Given the description of an element on the screen output the (x, y) to click on. 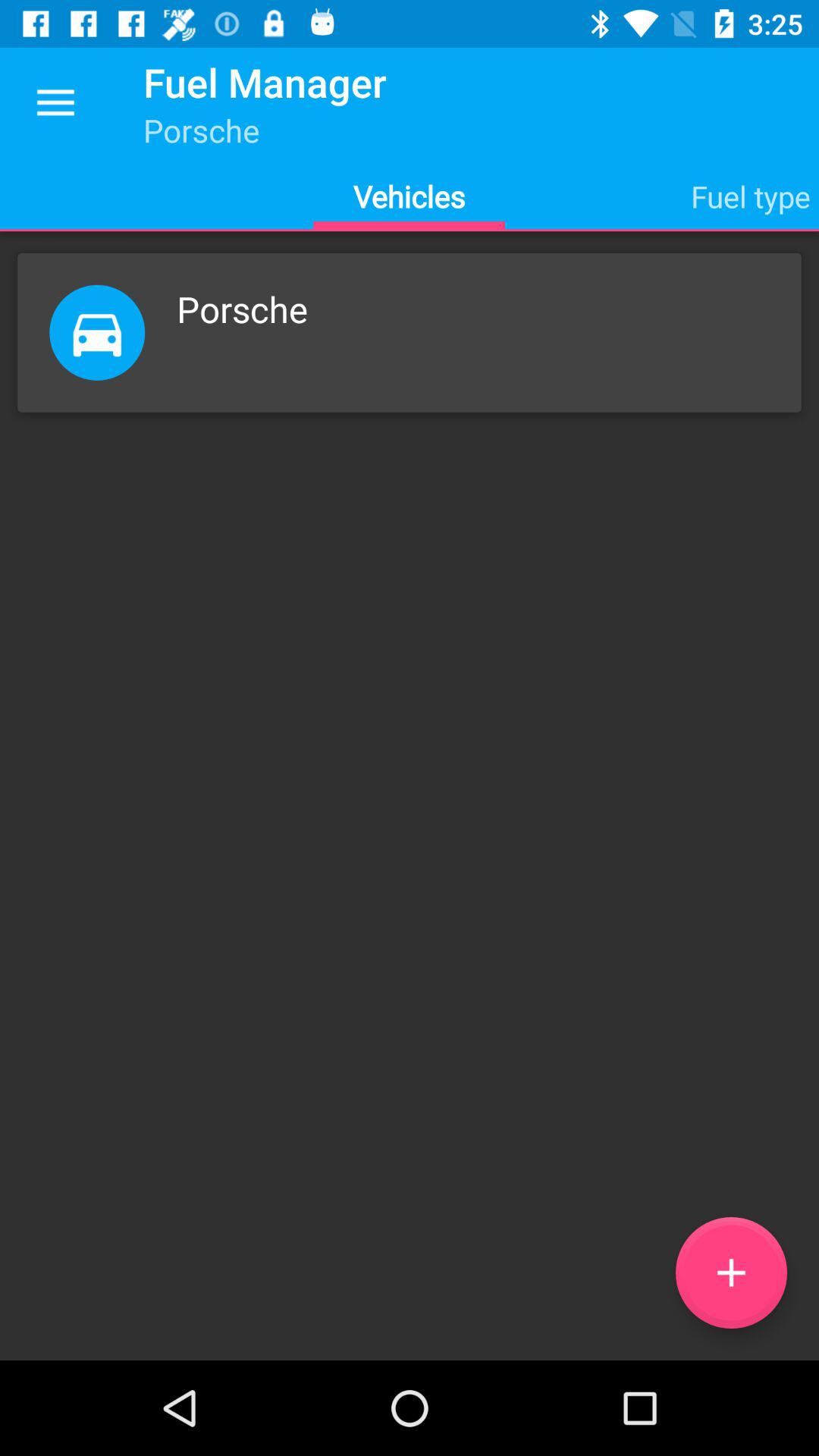
turn on icon to the left of the fuel manager item (55, 103)
